Given the description of an element on the screen output the (x, y) to click on. 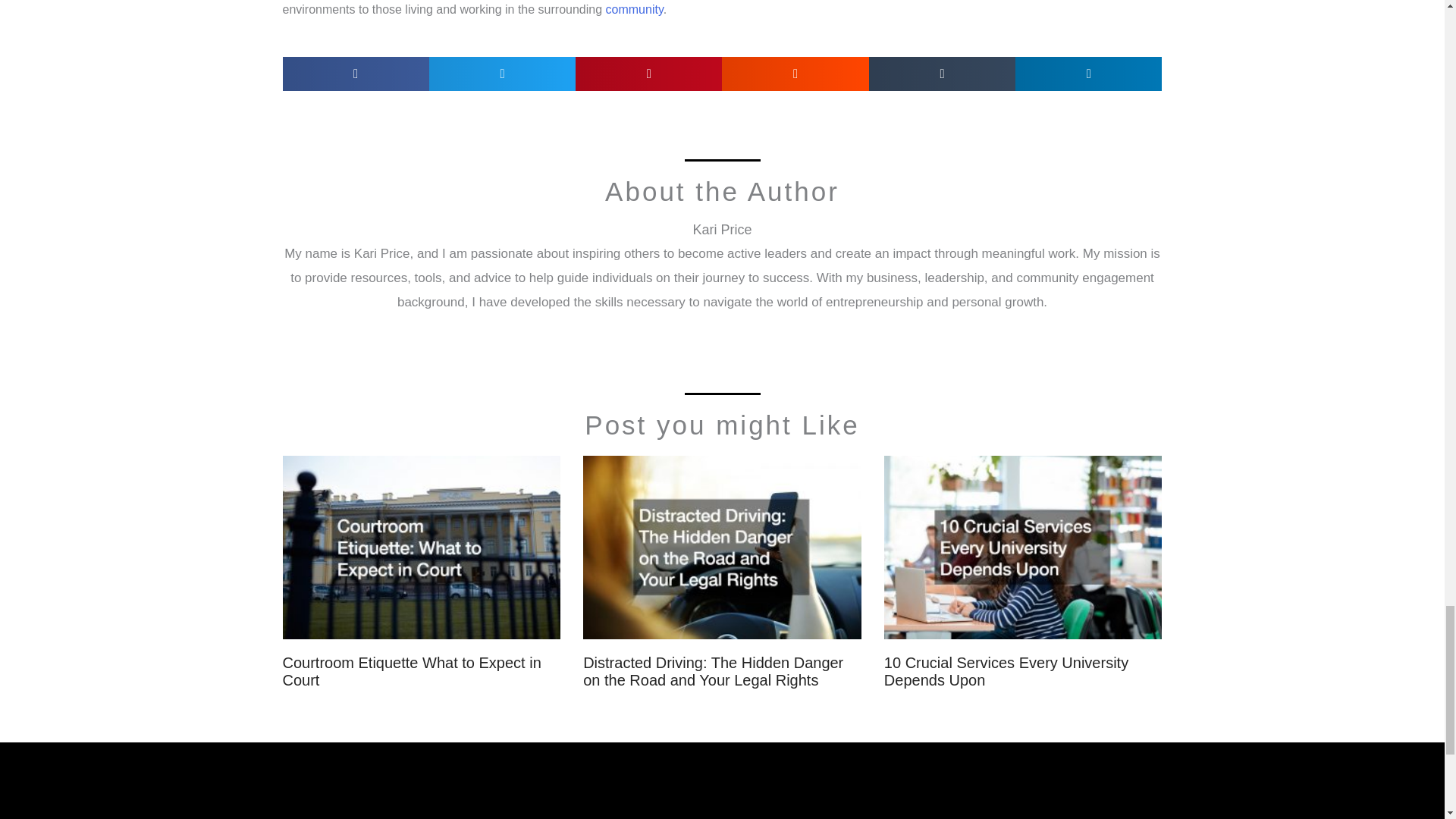
10 Crucial Services Every University Depends Upon (1005, 671)
Courtroom Etiquette What to Expect in Court (411, 671)
community (634, 9)
